Given the description of an element on the screen output the (x, y) to click on. 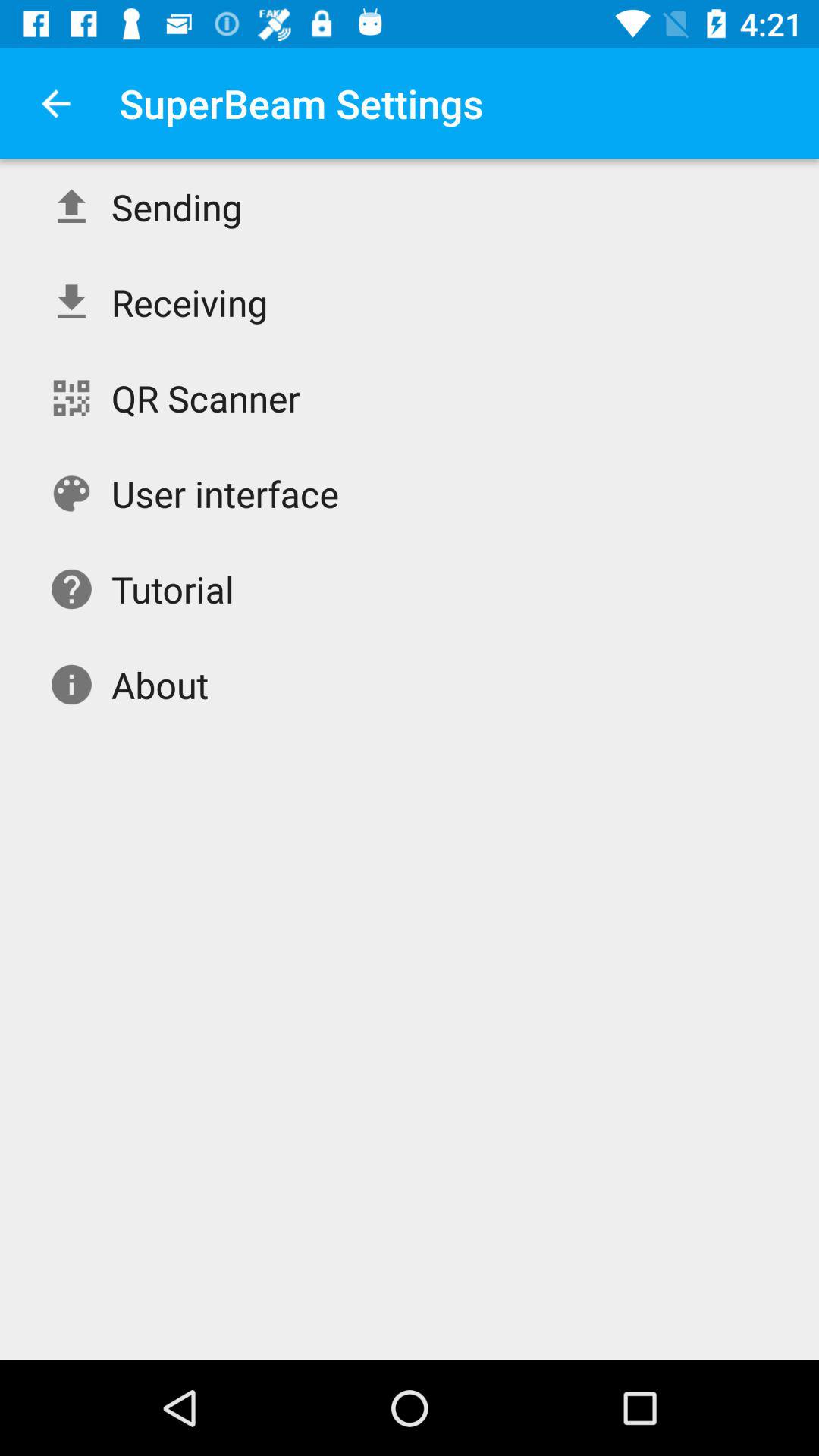
jump to the tutorial icon (172, 588)
